Given the description of an element on the screen output the (x, y) to click on. 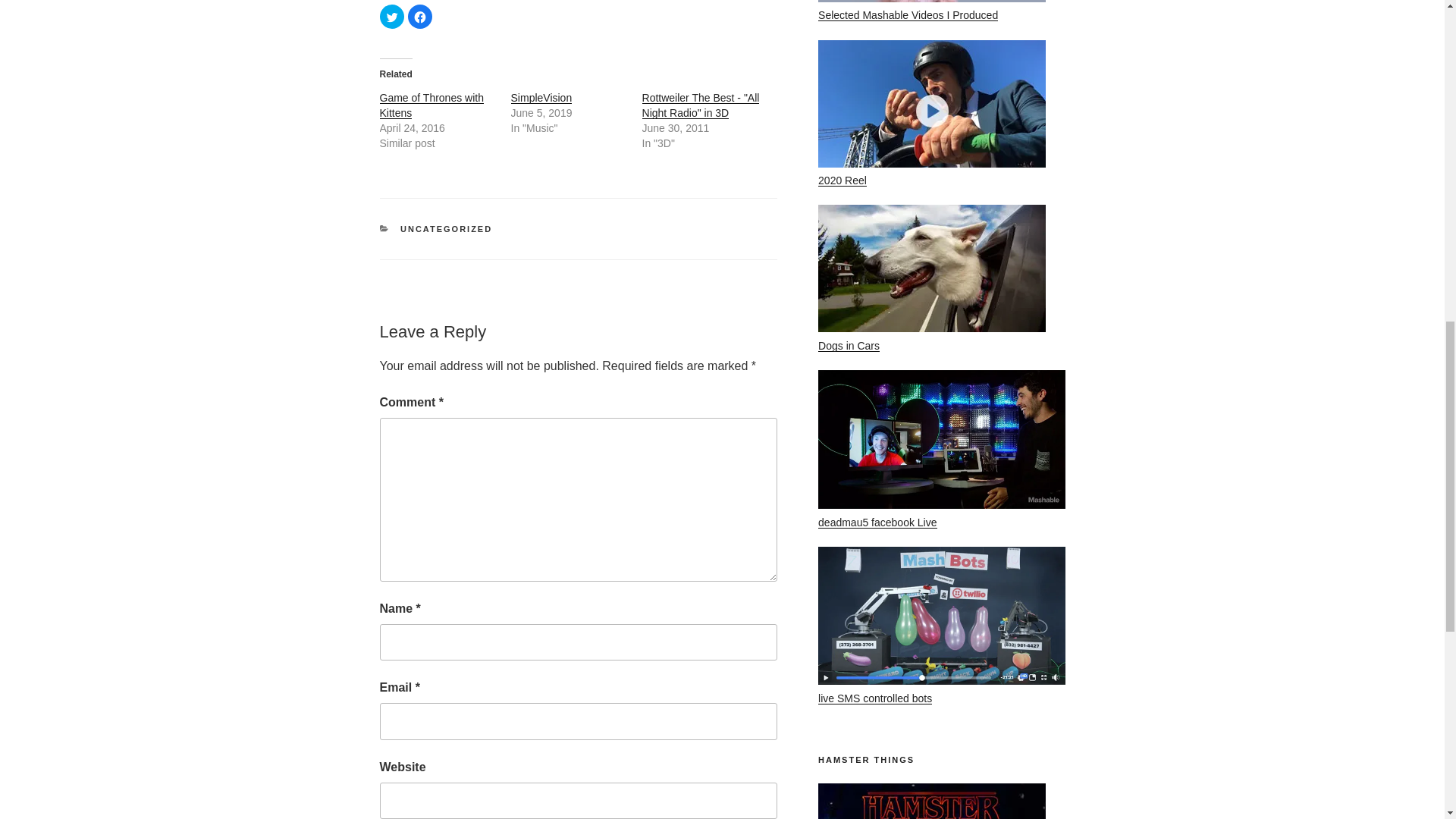
Click to share on Twitter (390, 16)
SimpleVision (541, 97)
Selected Mashable Videos I Produced (907, 15)
Game of Thrones with Kittens (430, 104)
Game of Thrones with Kittens (430, 104)
deadmau5 facebook Live (877, 522)
UNCATEGORIZED (446, 228)
2020 Reel (842, 180)
Rottweiler The Best - "All Night Radio" in 3D (701, 104)
Dogs in Cars (848, 345)
Click to share on Facebook (419, 16)
Rottweiler The Best - "All Night Radio" in 3D (701, 104)
SimpleVision (541, 97)
Dogs in Cars by Keith Hopkin (931, 268)
live SMS controlled bots (874, 698)
